Given the description of an element on the screen output the (x, y) to click on. 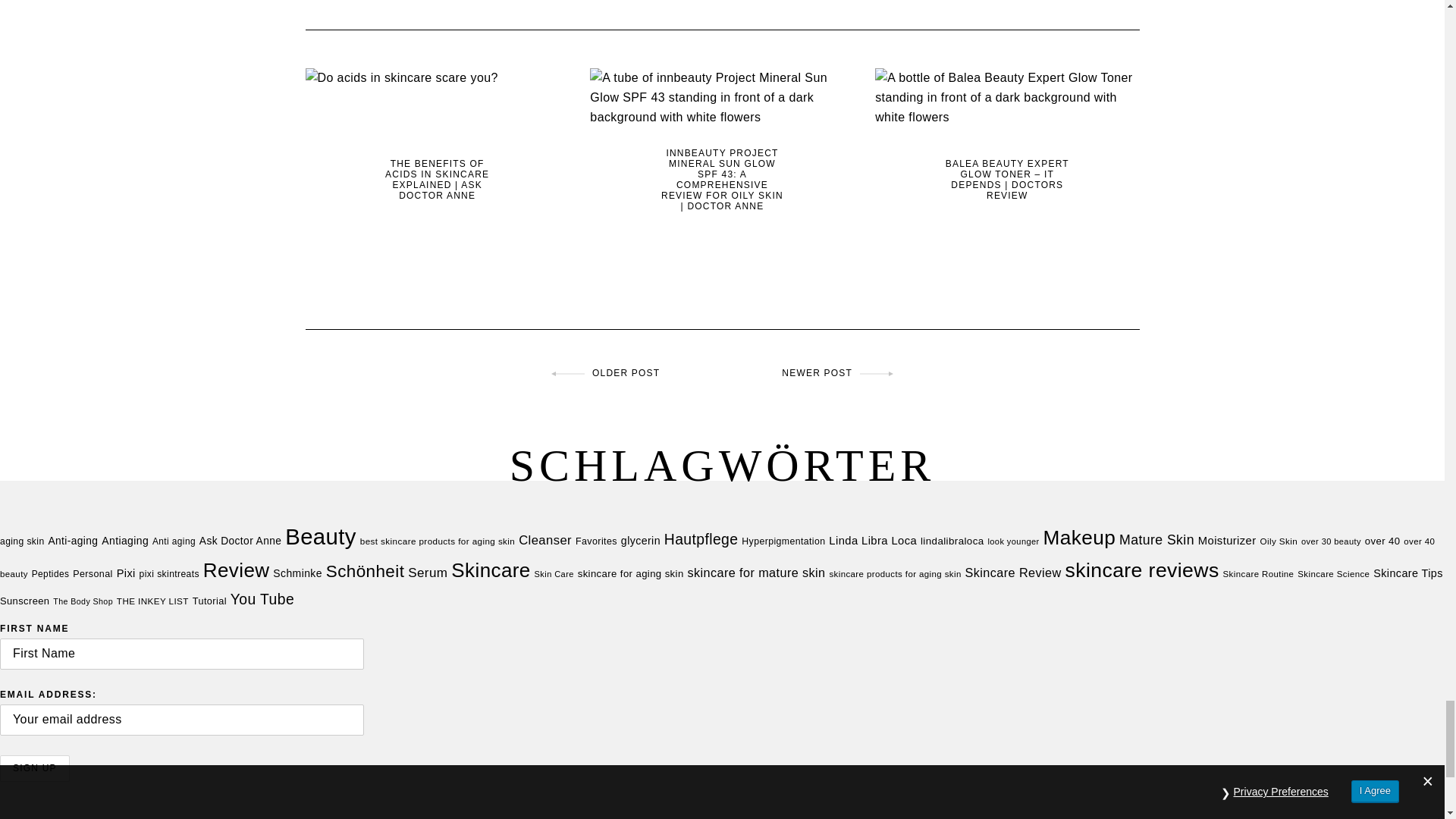
Sign up (34, 768)
